Given the description of an element on the screen output the (x, y) to click on. 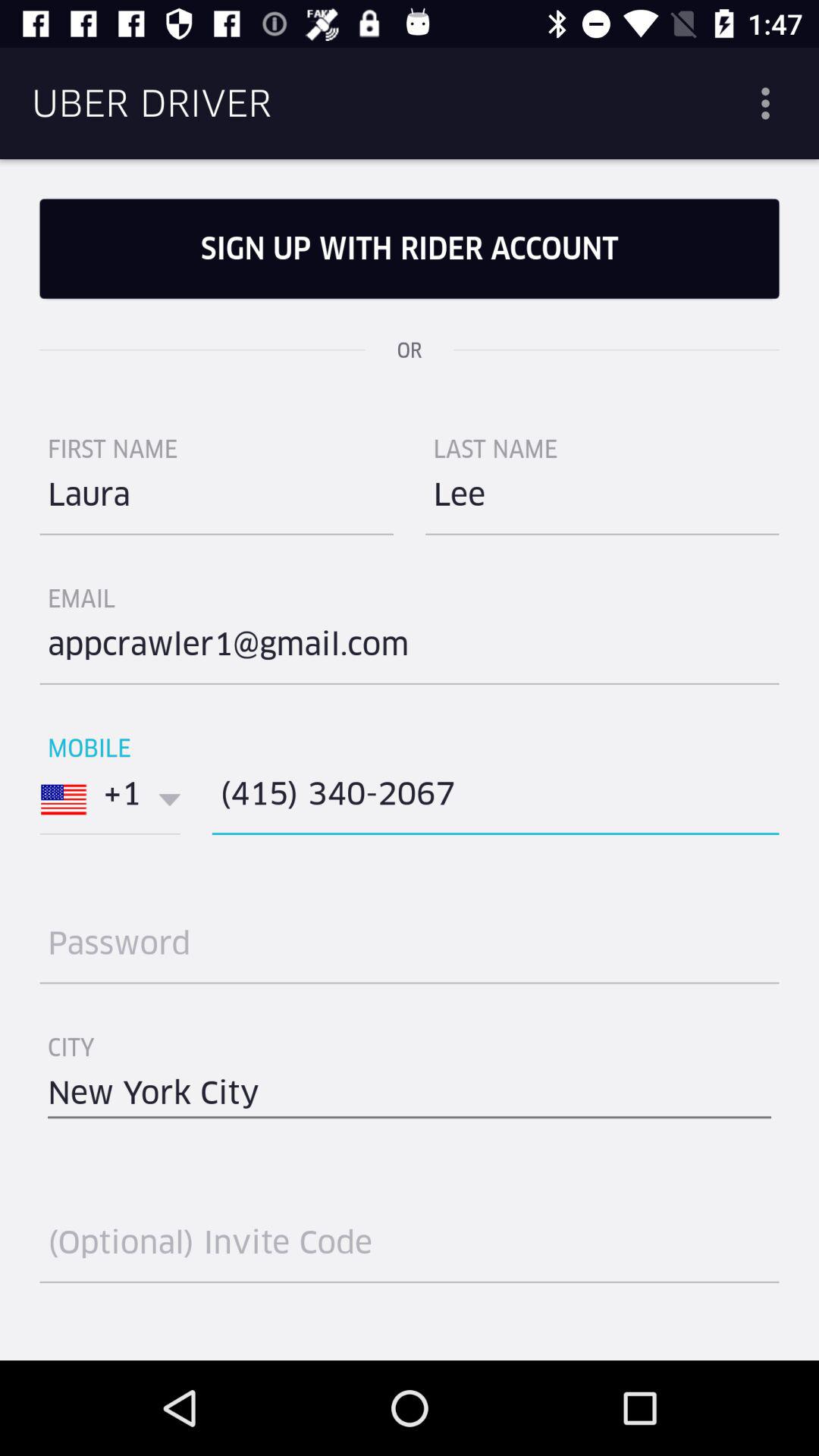
turn on icon above appcrawler1@gmail.com item (602, 500)
